Given the description of an element on the screen output the (x, y) to click on. 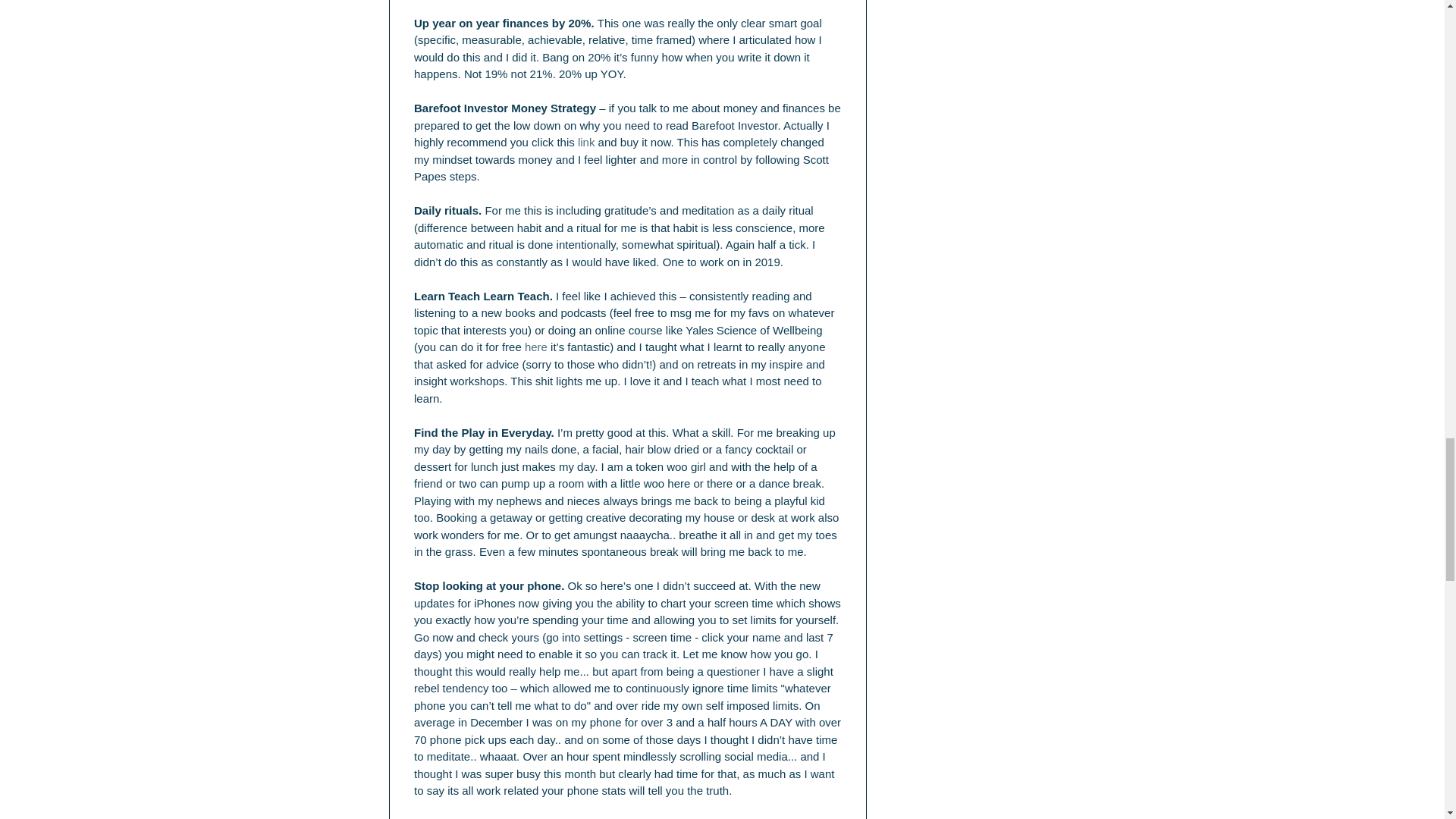
link (585, 141)
here (535, 346)
